Given the description of an element on the screen output the (x, y) to click on. 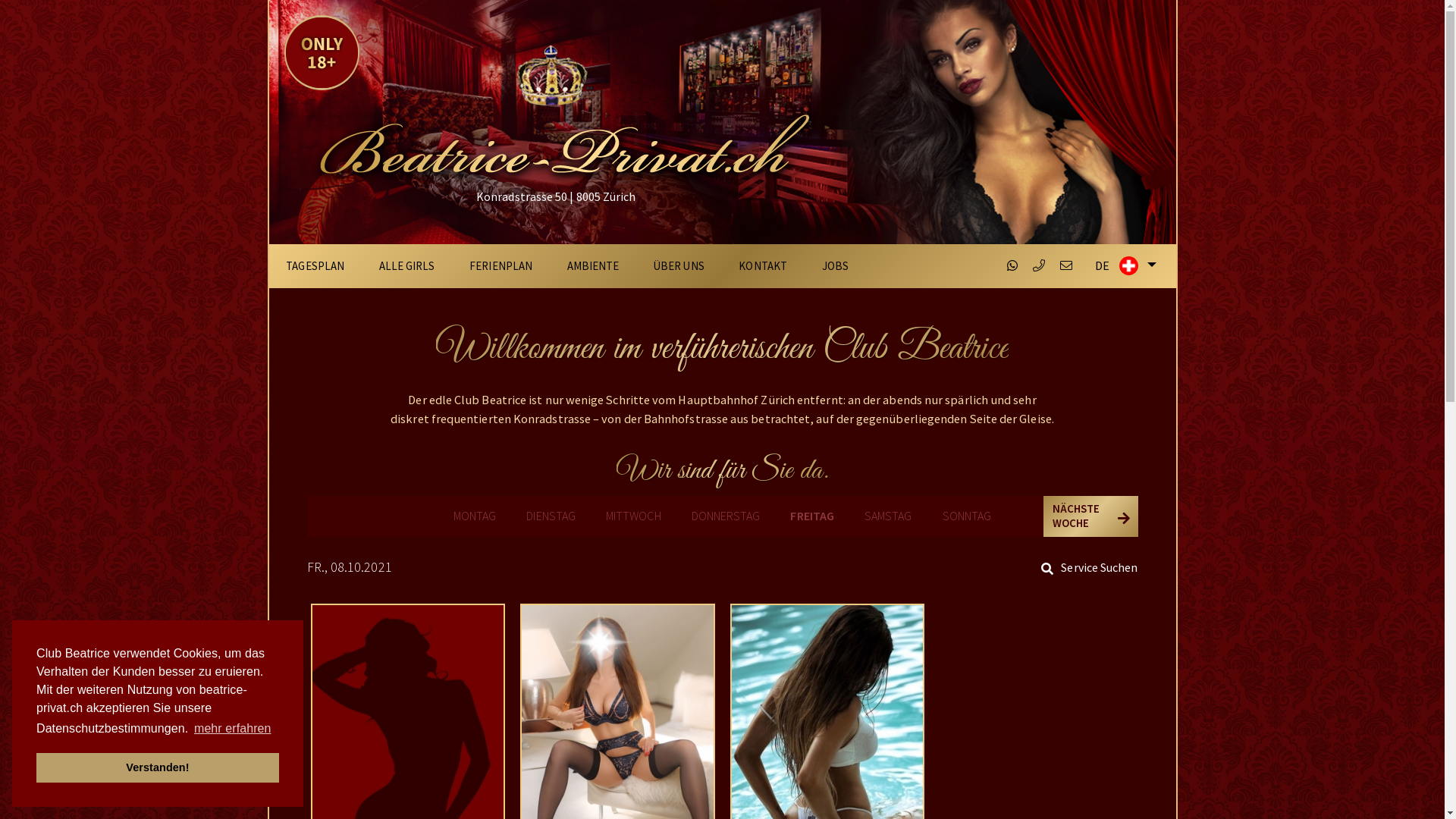
SAMSTAG Element type: text (888, 515)
FREITAG Element type: text (812, 515)
MONTAG Element type: text (474, 515)
Service Suchen Element type: text (1087, 567)
Schreib uns eine E-Mail Element type: hover (1066, 265)
KONTAKT Element type: text (762, 265)
ALLE GIRLS Element type: text (406, 265)
AMBIENTE Element type: text (592, 265)
DIENSTAG Element type: text (550, 515)
TAGESPLAN Element type: text (314, 265)
Direkt zum Inhalt Element type: text (0, 0)
Schreib uns via Whatsapp Element type: hover (1012, 265)
Beatrice Privat Element type: hover (561, 111)
MITTWOCH Element type: text (633, 515)
JOBS Element type: text (835, 265)
DE Element type: text (1123, 265)
SONNTAG Element type: text (967, 515)
FERIENPLAN Element type: text (500, 265)
DONNERSTAG Element type: text (725, 515)
Ruf uns an Element type: hover (1038, 265)
Verstanden! Element type: text (157, 767)
mehr erfahren Element type: text (232, 728)
